Given the description of an element on the screen output the (x, y) to click on. 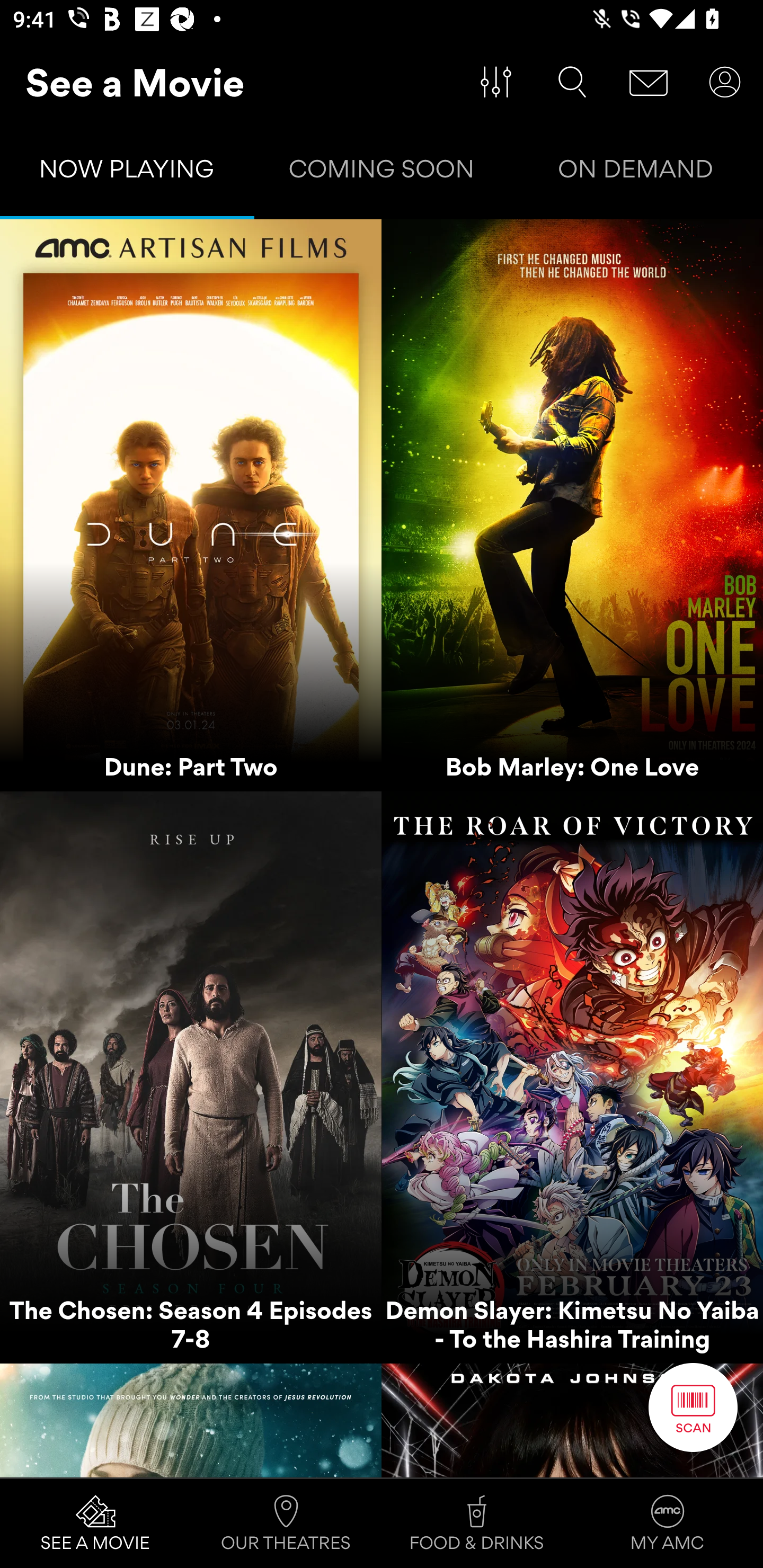
Filter Movies (495, 82)
Search (572, 82)
Message Center (648, 82)
User Account (724, 82)
NOW PLAYING
Tab 1 of 3 (127, 173)
COMING SOON
Tab 2 of 3 (381, 173)
ON DEMAND
Tab 3 of 3 (635, 173)
Dune: Part Two (190, 505)
Bob Marley: One Love (572, 505)
The Chosen: Season 4 Episodes 7-8 (190, 1077)
Scan Button (692, 1406)
SEE A MOVIE
Tab 1 of 4 (95, 1523)
OUR THEATRES
Tab 2 of 4 (285, 1523)
FOOD & DRINKS
Tab 3 of 4 (476, 1523)
MY AMC
Tab 4 of 4 (667, 1523)
